Given the description of an element on the screen output the (x, y) to click on. 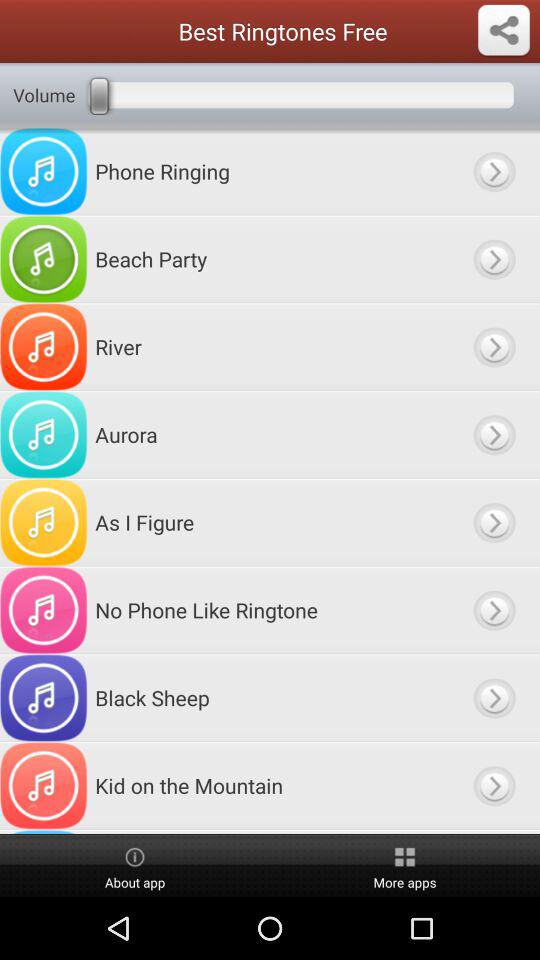
play button (494, 697)
